Given the description of an element on the screen output the (x, y) to click on. 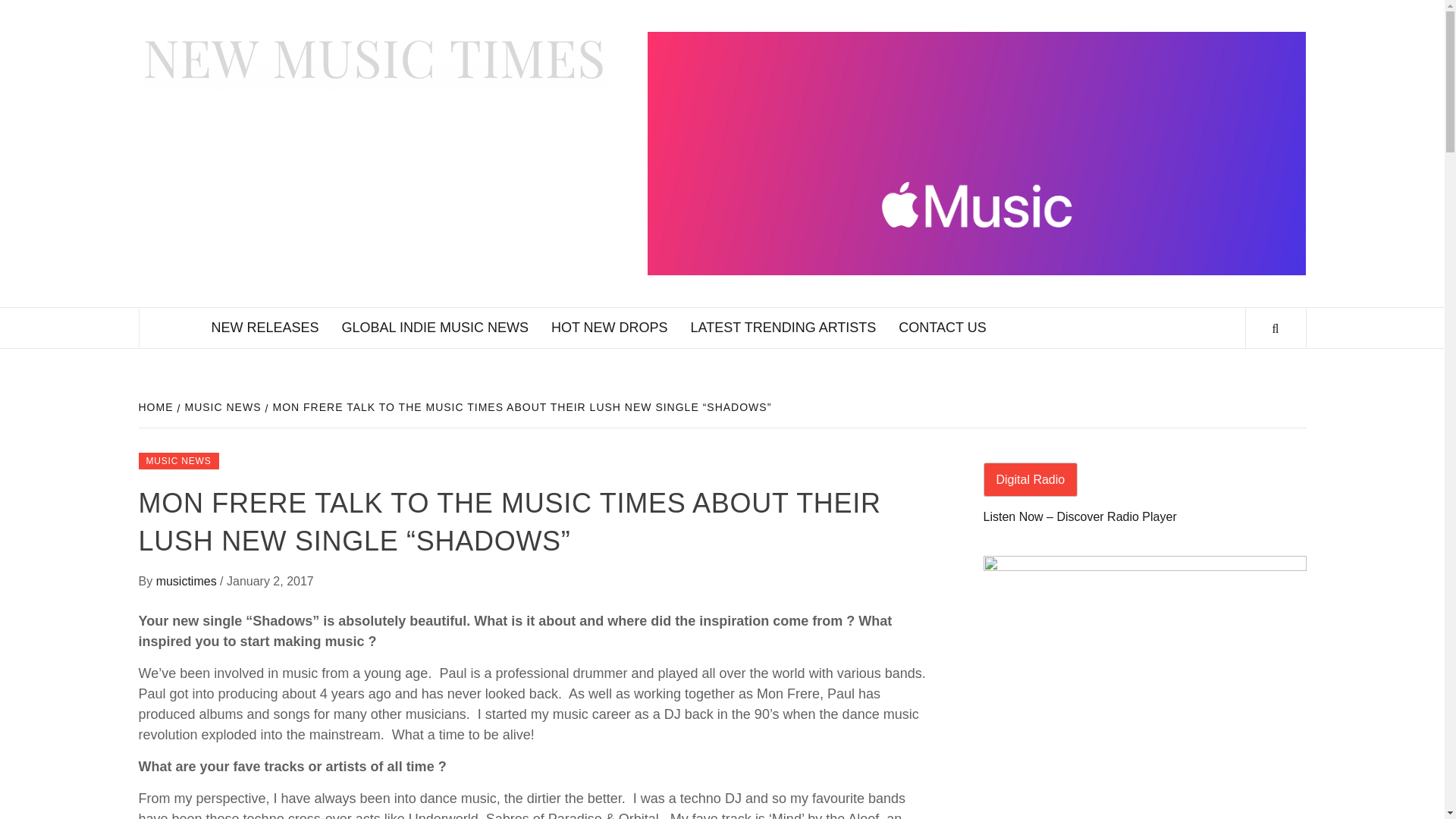
HOT NEW DROPS (609, 327)
LATEST TRENDING ARTISTS (783, 327)
HOME (157, 407)
CONTACT US (941, 327)
NEW RELEASES (265, 327)
musictimes (187, 581)
MUSIC NEWS (220, 407)
MUSIC NEWS (178, 460)
GLOBAL INDIE MUSIC NEWS (435, 327)
Digital Radio (1029, 479)
NEW MUSIC TIMES (671, 102)
